Given the description of an element on the screen output the (x, y) to click on. 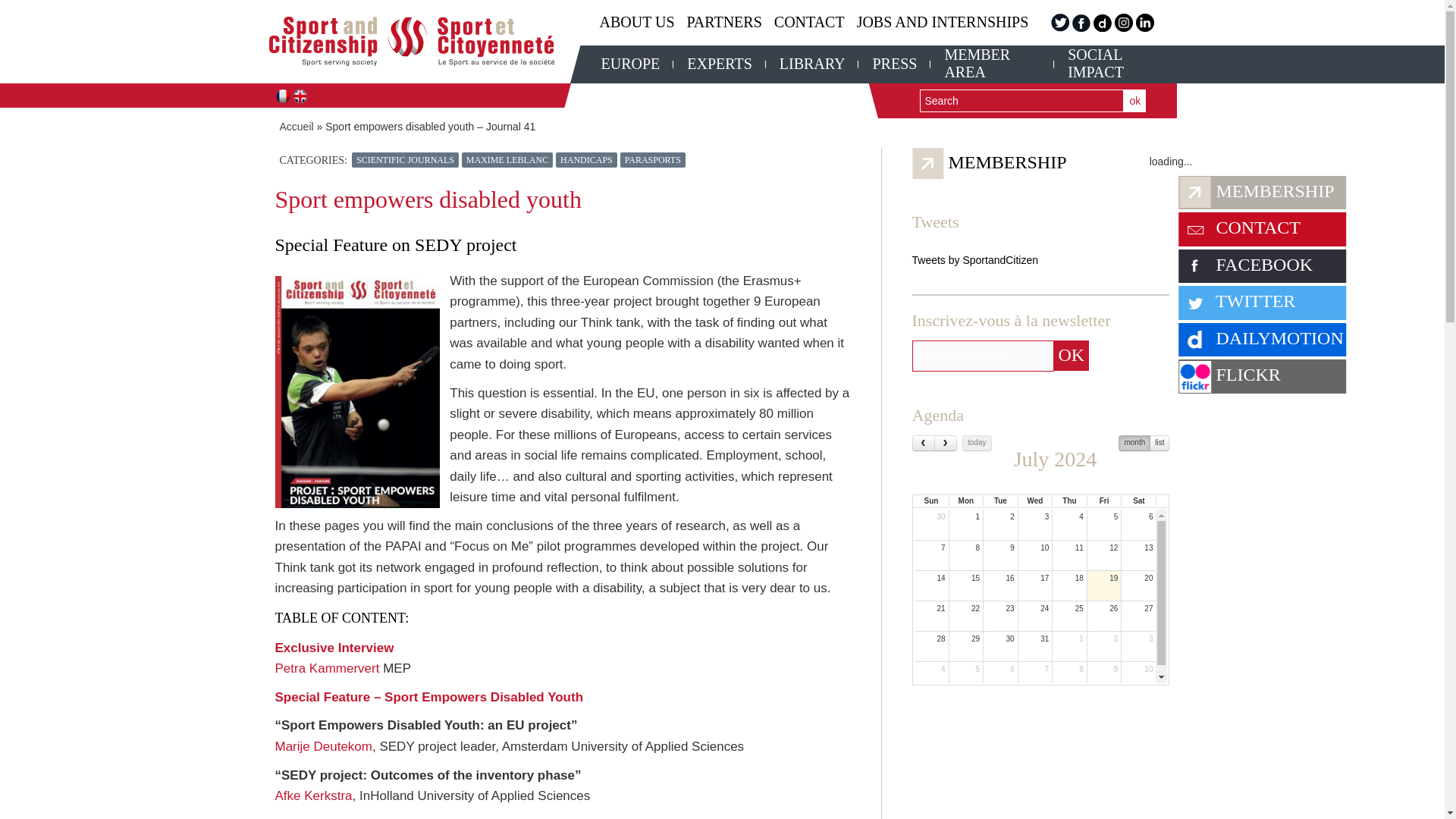
EUROPE (629, 63)
FR (282, 96)
JOBS AND INTERNSHIPS (943, 22)
MEMBER AREA (992, 63)
PARTNERS (724, 22)
EN (299, 96)
PRESS (894, 63)
LIBRARY (811, 63)
CONTACT (809, 22)
OK (1071, 355)
Accueil (296, 126)
ABOUT US (636, 22)
SOCIAL IMPACT (1115, 63)
EXPERTS (719, 63)
